Given the description of an element on the screen output the (x, y) to click on. 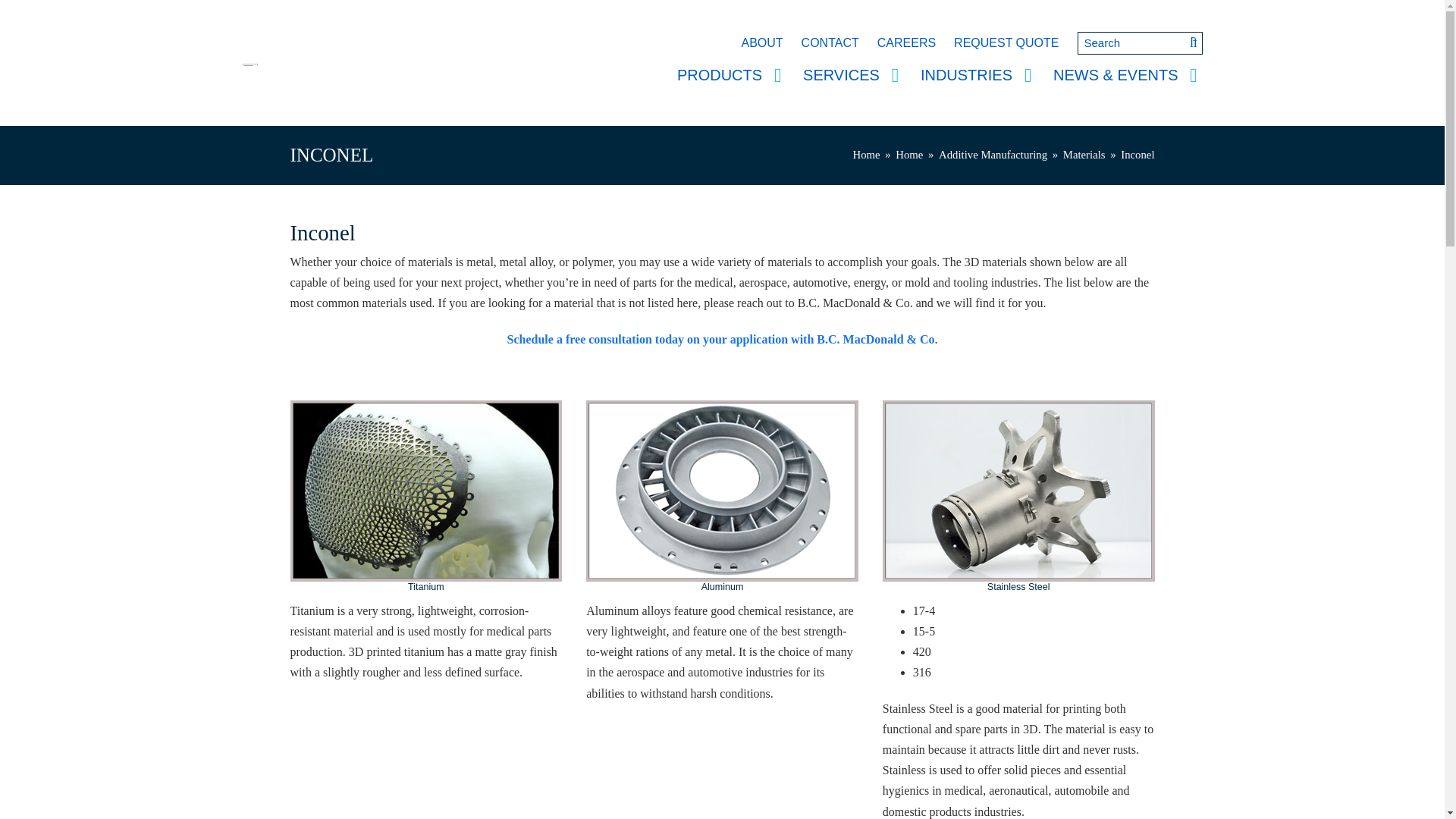
CONTACT (829, 42)
REQUEST QUOTE (1005, 42)
CAREERS (905, 42)
ABOUT (762, 42)
